Given the description of an element on the screen output the (x, y) to click on. 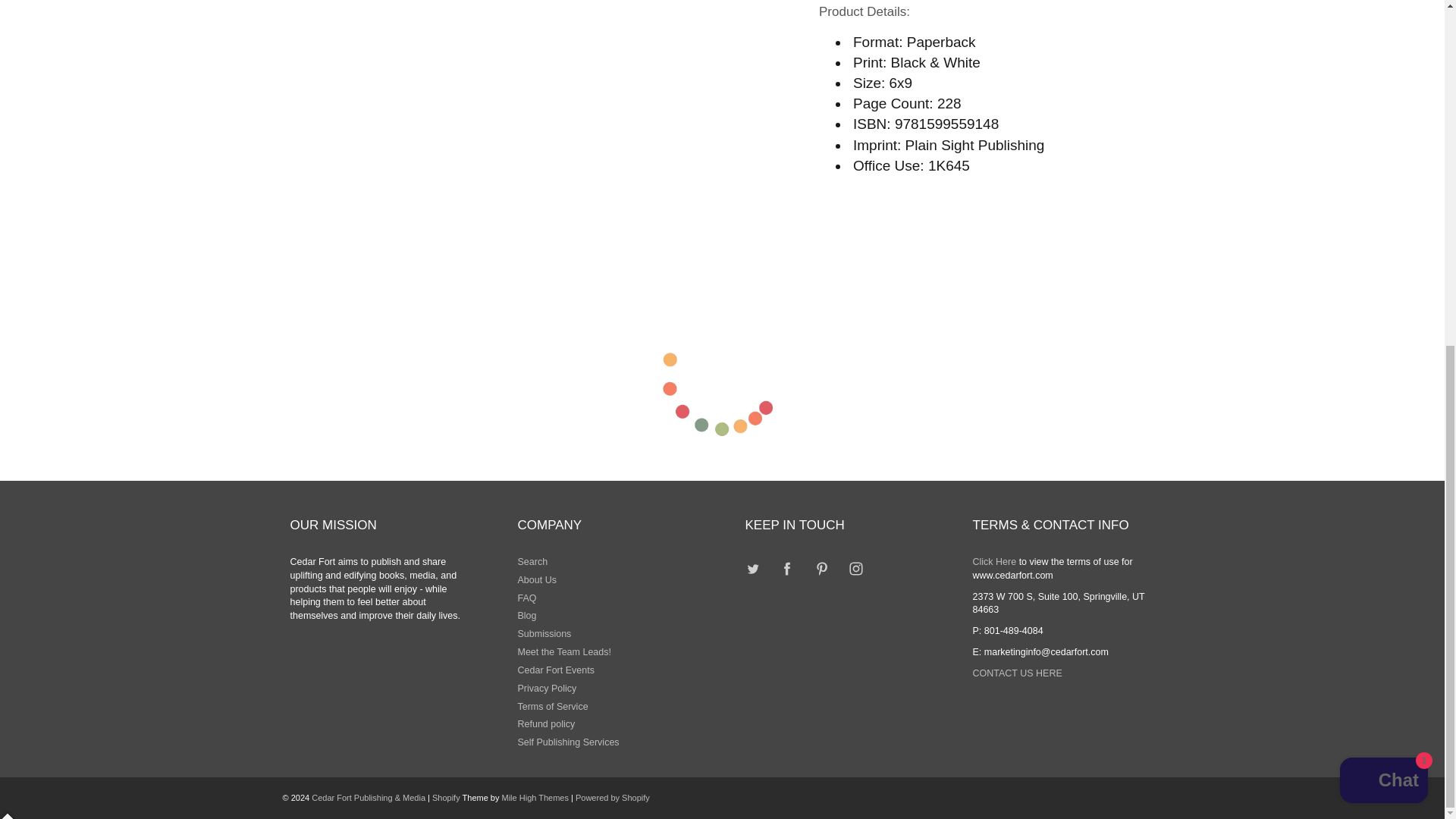
Pinterest (821, 569)
Facebook (787, 569)
Contact Us (1016, 673)
Twitter (753, 569)
Instagram (856, 569)
Terms of Use (994, 561)
Shopify online store chat (1383, 187)
